Given the description of an element on the screen output the (x, y) to click on. 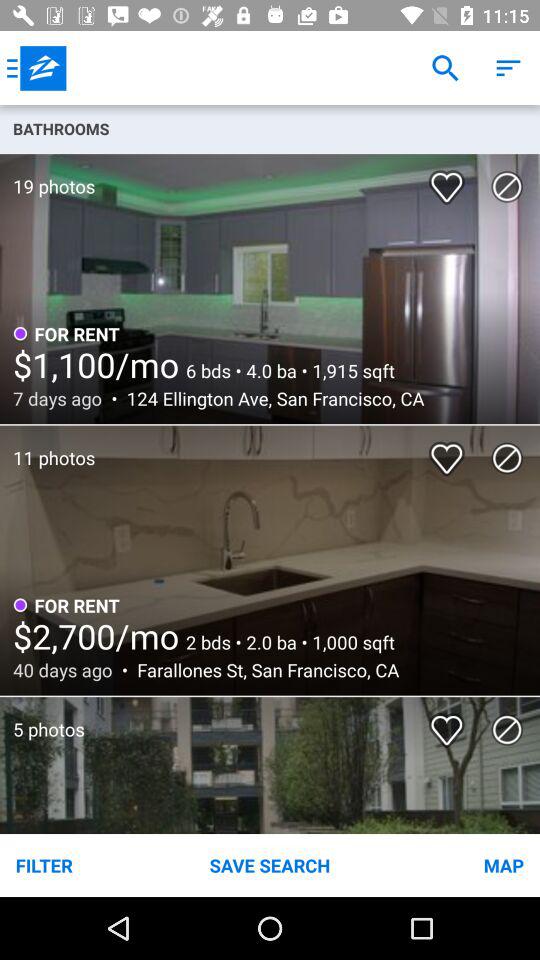
open the item above the 124 ellington ave (286, 370)
